Given the description of an element on the screen output the (x, y) to click on. 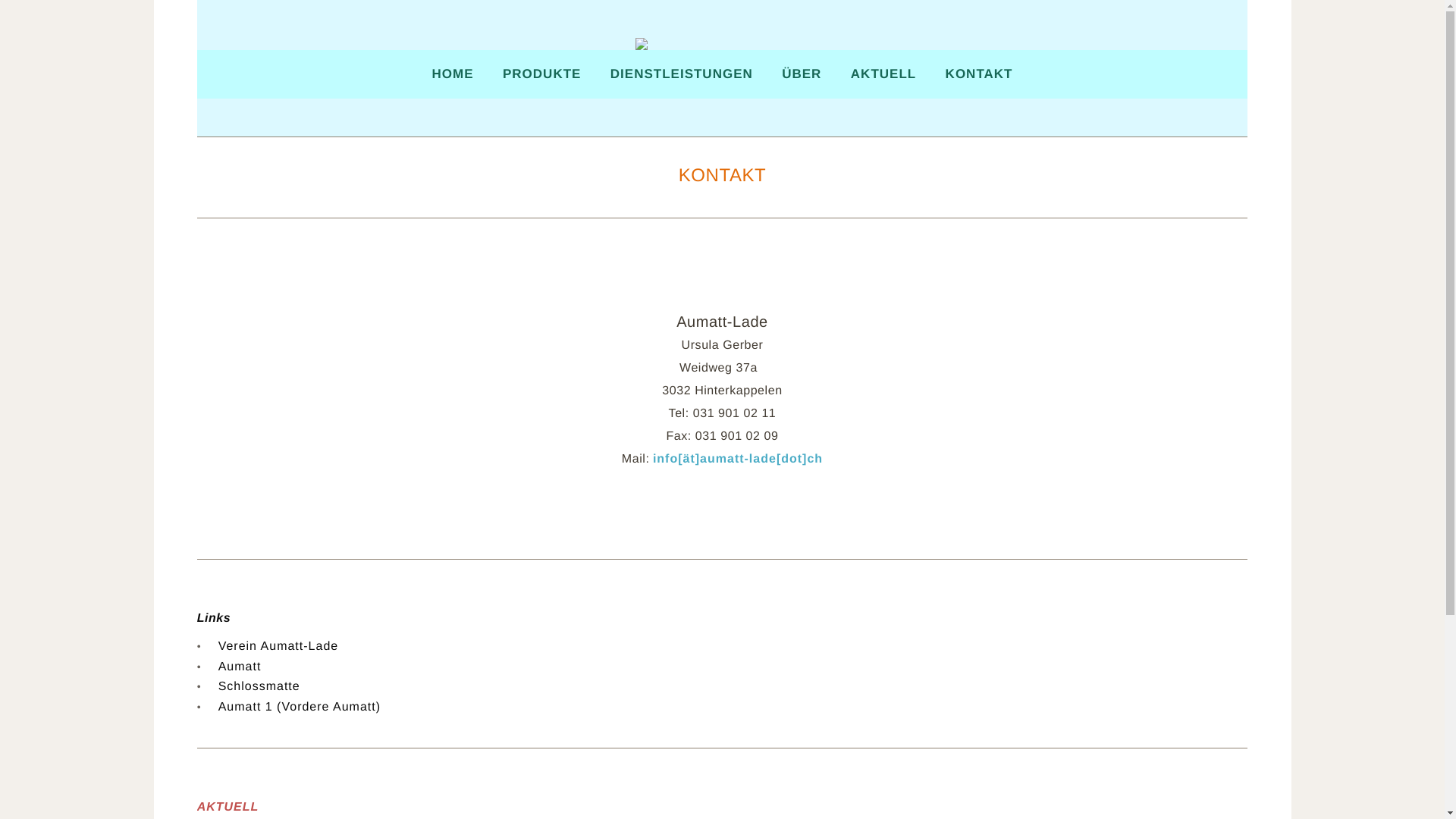
HOME Element type: text (452, 74)
AKTUELL Element type: text (882, 74)
PRODUKTE Element type: text (541, 74)
DIENSTLEISTUNGEN Element type: text (681, 74)
Schlossmatte Element type: text (259, 686)
KONTAKT Element type: text (979, 74)
Aumatt 1 (Vordere Aumatt) Element type: text (299, 706)
Verein Aumatt-Lade Element type: text (278, 646)
Aumatt-Lade Element type: hover (722, 43)
Aumatt Element type: text (239, 665)
AKTUELL Element type: text (228, 806)
